Given the description of an element on the screen output the (x, y) to click on. 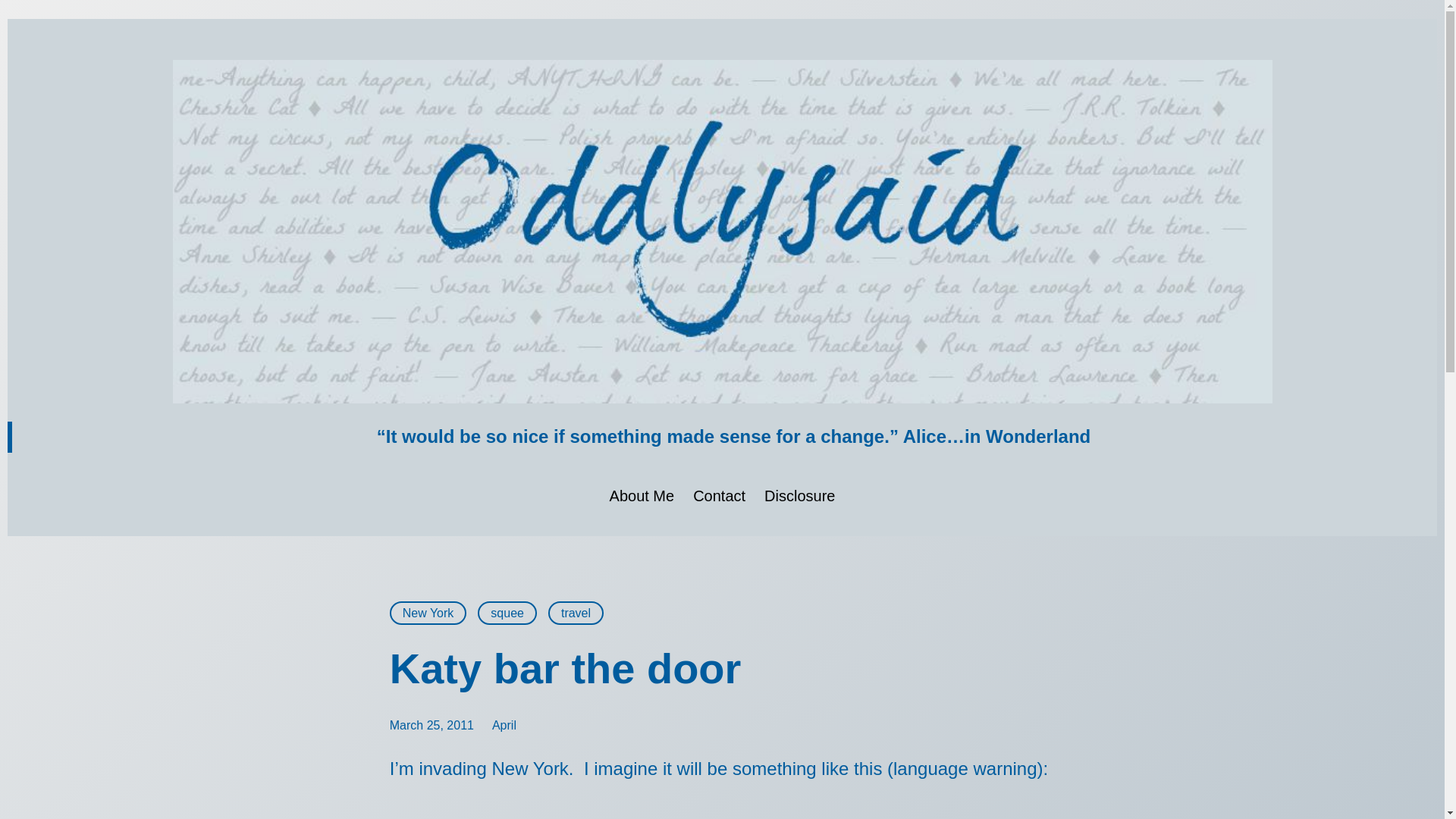
YouTube video player (572, 811)
Contact (719, 495)
travel (576, 612)
squee (507, 612)
About Me (642, 495)
Disclosure (799, 495)
New York (428, 612)
